Given the description of an element on the screen output the (x, y) to click on. 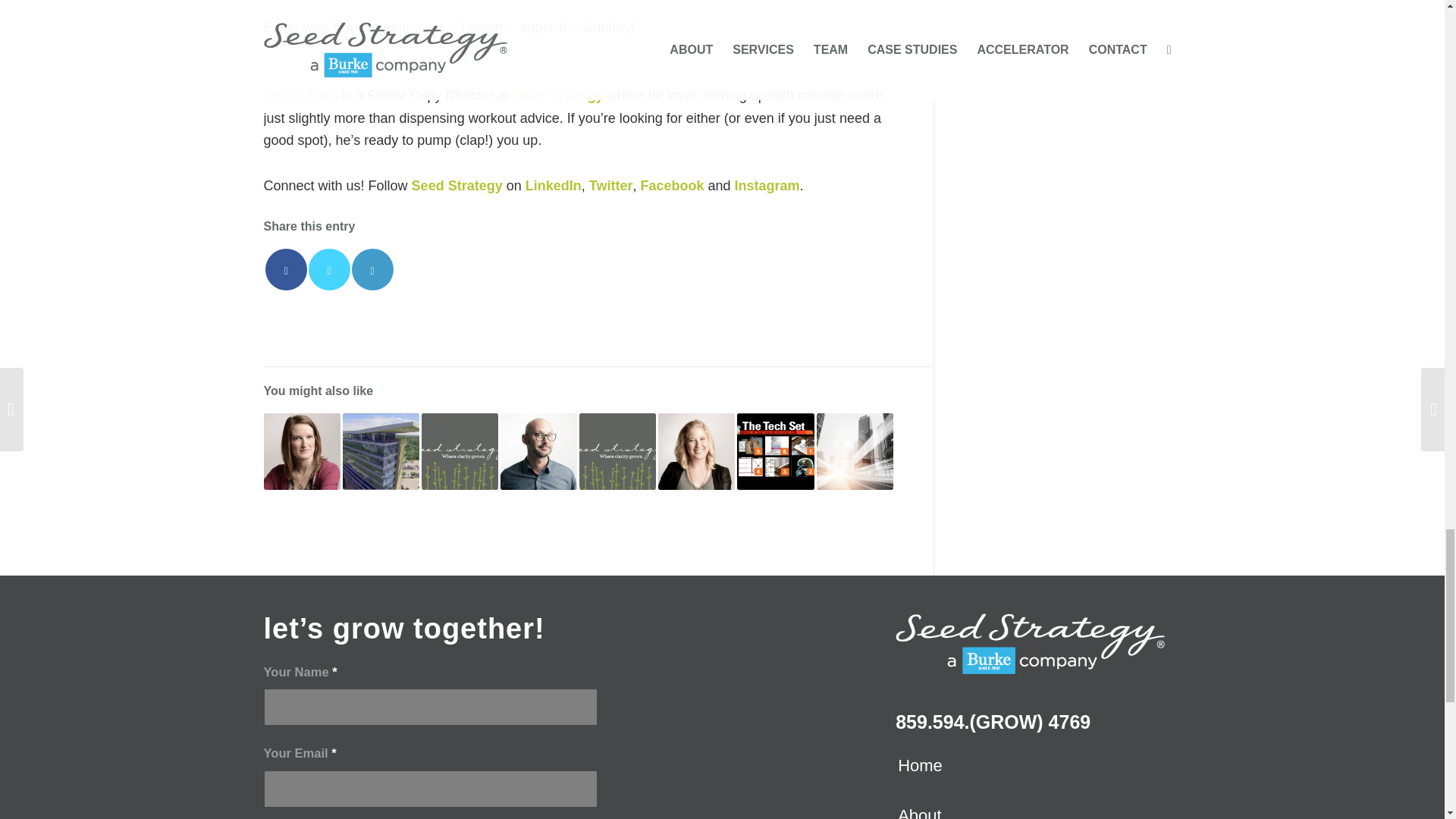
LinkedIn (552, 185)
Facebook (671, 185)
Twitter (611, 185)
Seed Strategy (457, 185)
Instagram (766, 185)
Schleicher Promoted to Creative Director (301, 451)
Seed Welcomes Two Summer Associates (617, 451)
Jed Golden (300, 95)
Scheer Promoted to VP, Creative (538, 451)
